Given the description of an element on the screen output the (x, y) to click on. 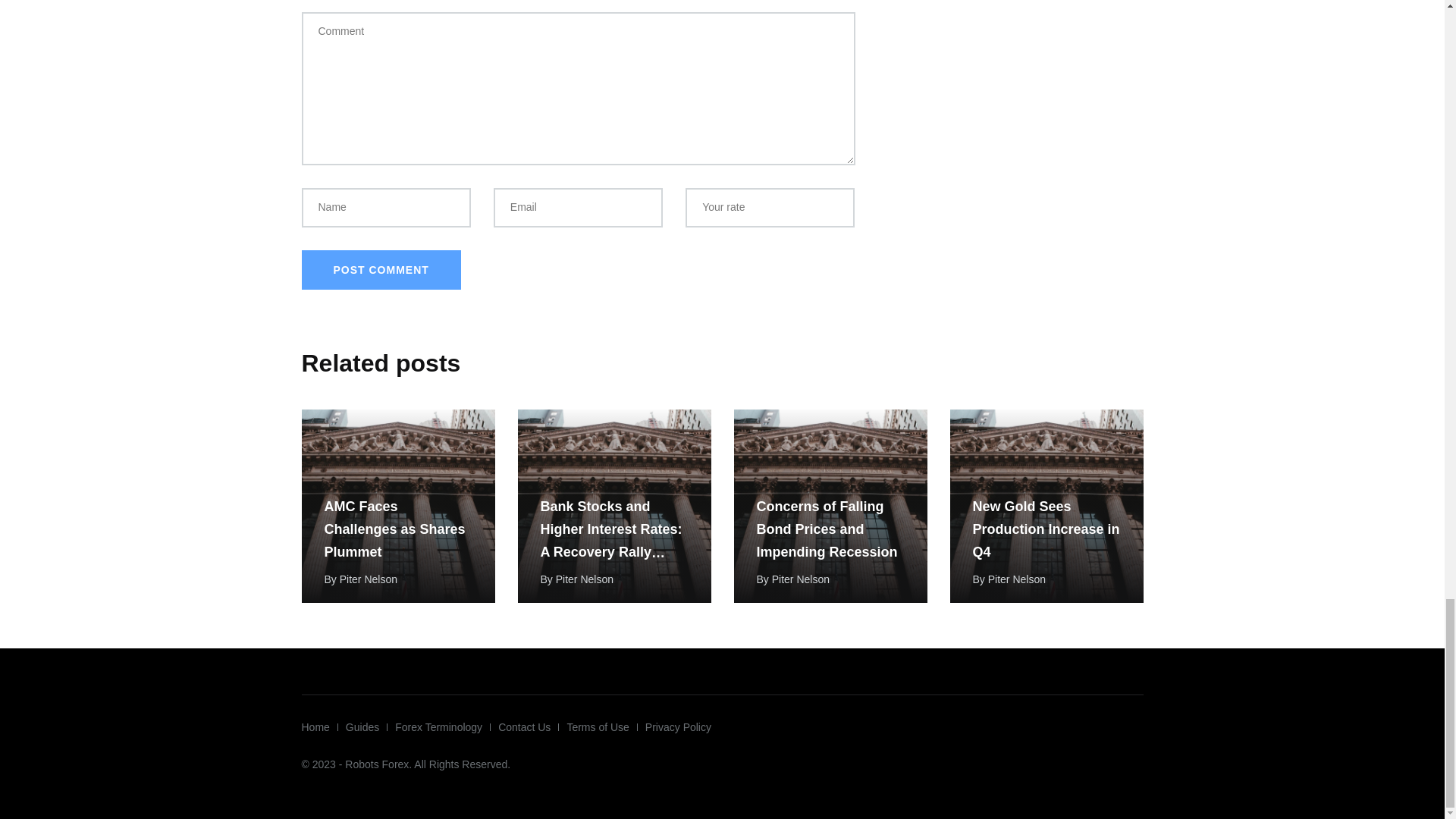
POST COMMENT (381, 269)
